Given the description of an element on the screen output the (x, y) to click on. 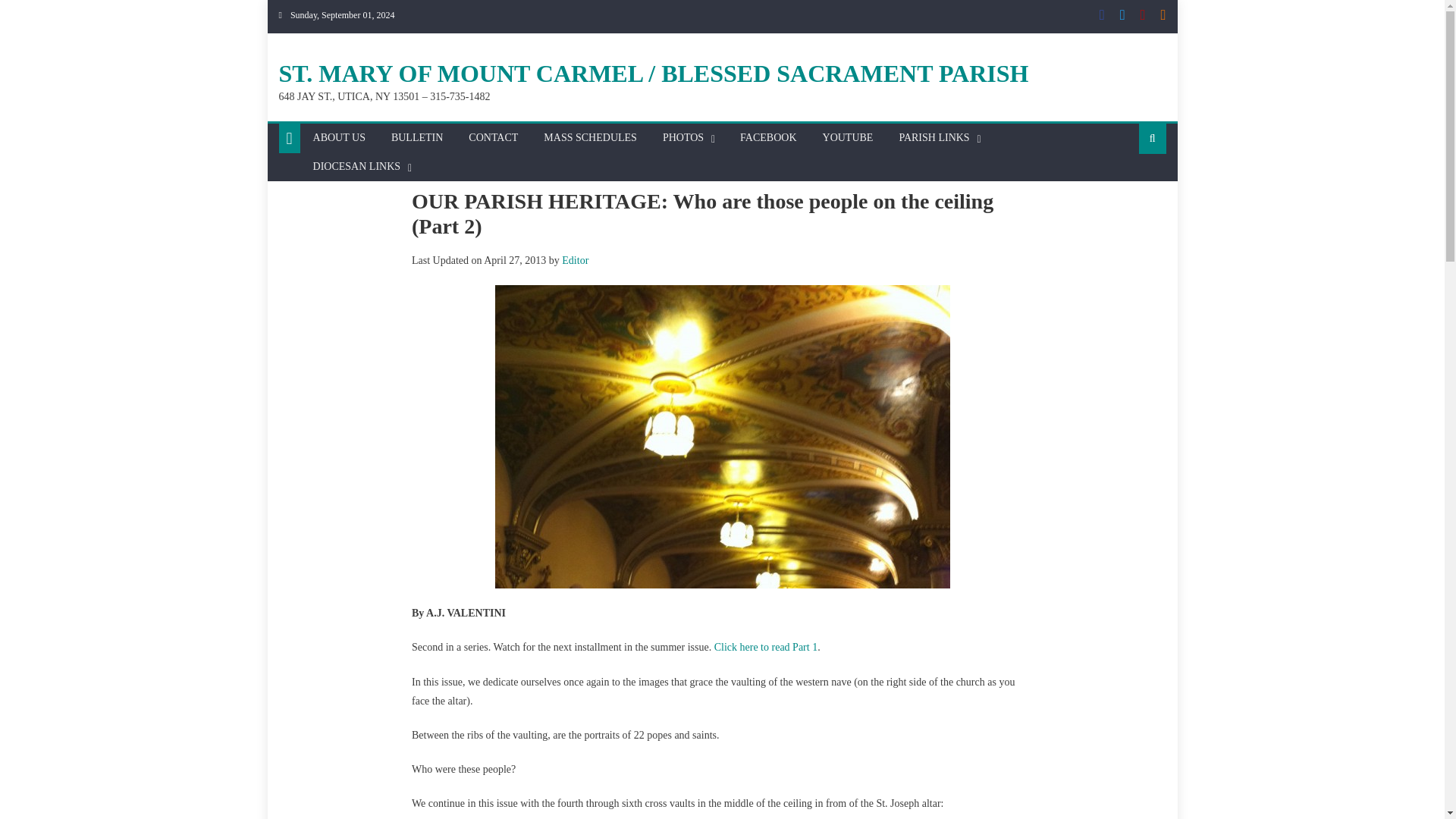
MASS SCHEDULES (589, 137)
ABOUT US (339, 137)
BULLETIN (417, 137)
PARISH LINKS (932, 137)
CONTACT (493, 137)
YOUTUBE (847, 137)
FACEBOOK (768, 137)
PHOTOS (682, 137)
